Given the description of an element on the screen output the (x, y) to click on. 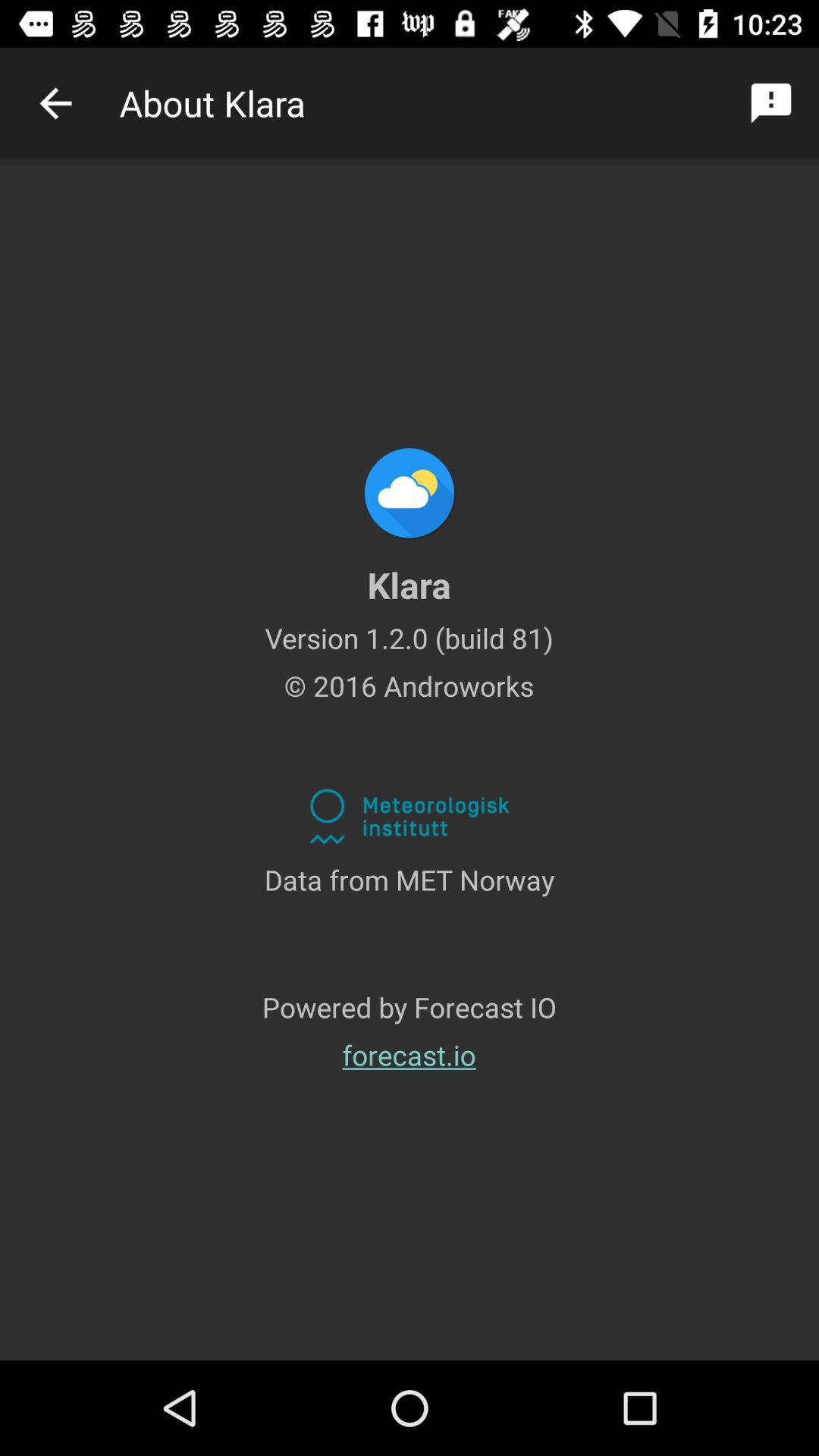
turn on app next to about klara icon (771, 103)
